Given the description of an element on the screen output the (x, y) to click on. 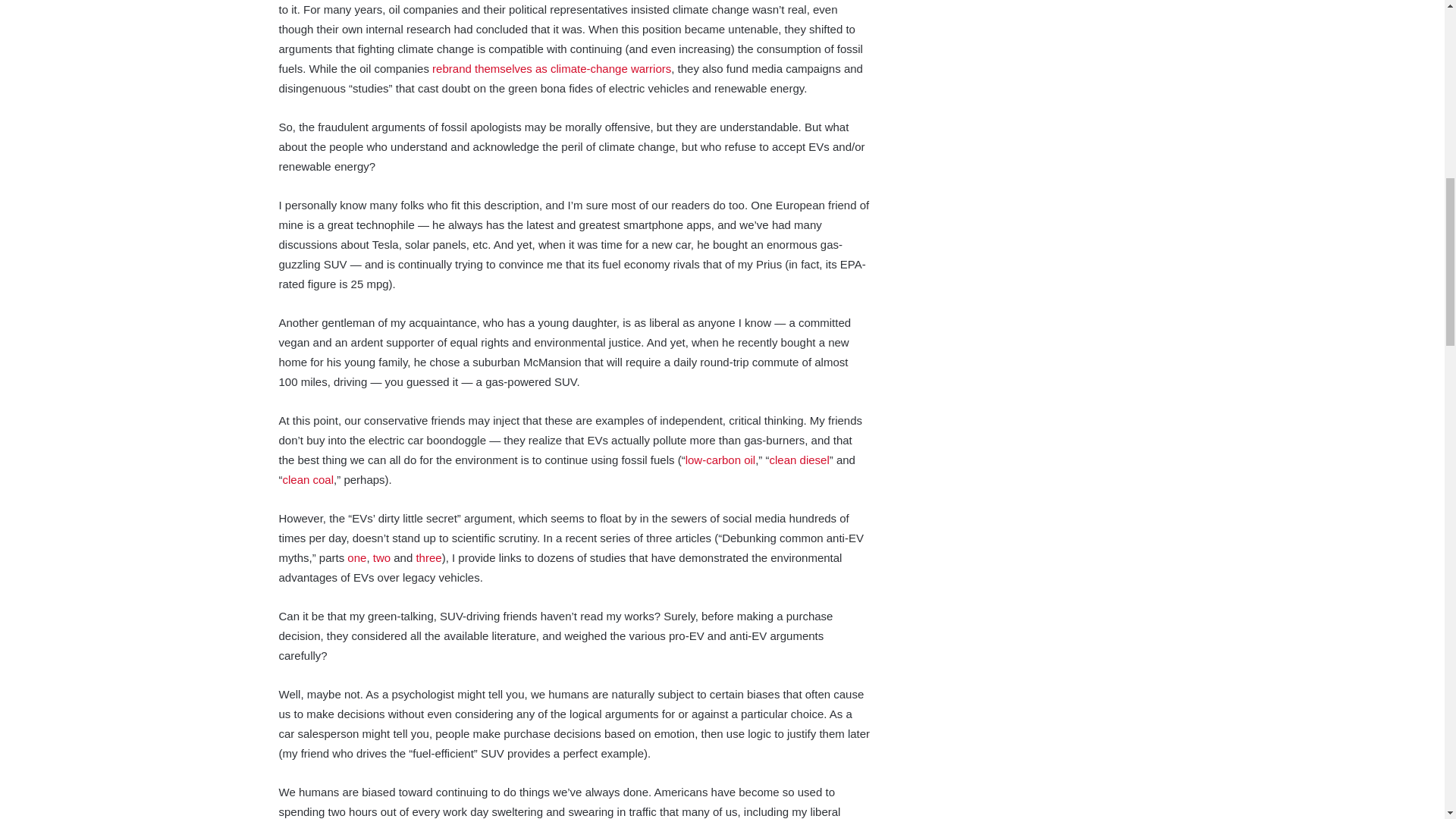
one (356, 557)
rebrand themselves as climate-change warriors (551, 68)
three (427, 557)
low-carbon oil (720, 459)
clean diesel (799, 459)
two (381, 557)
clean coal (307, 479)
